Given the description of an element on the screen output the (x, y) to click on. 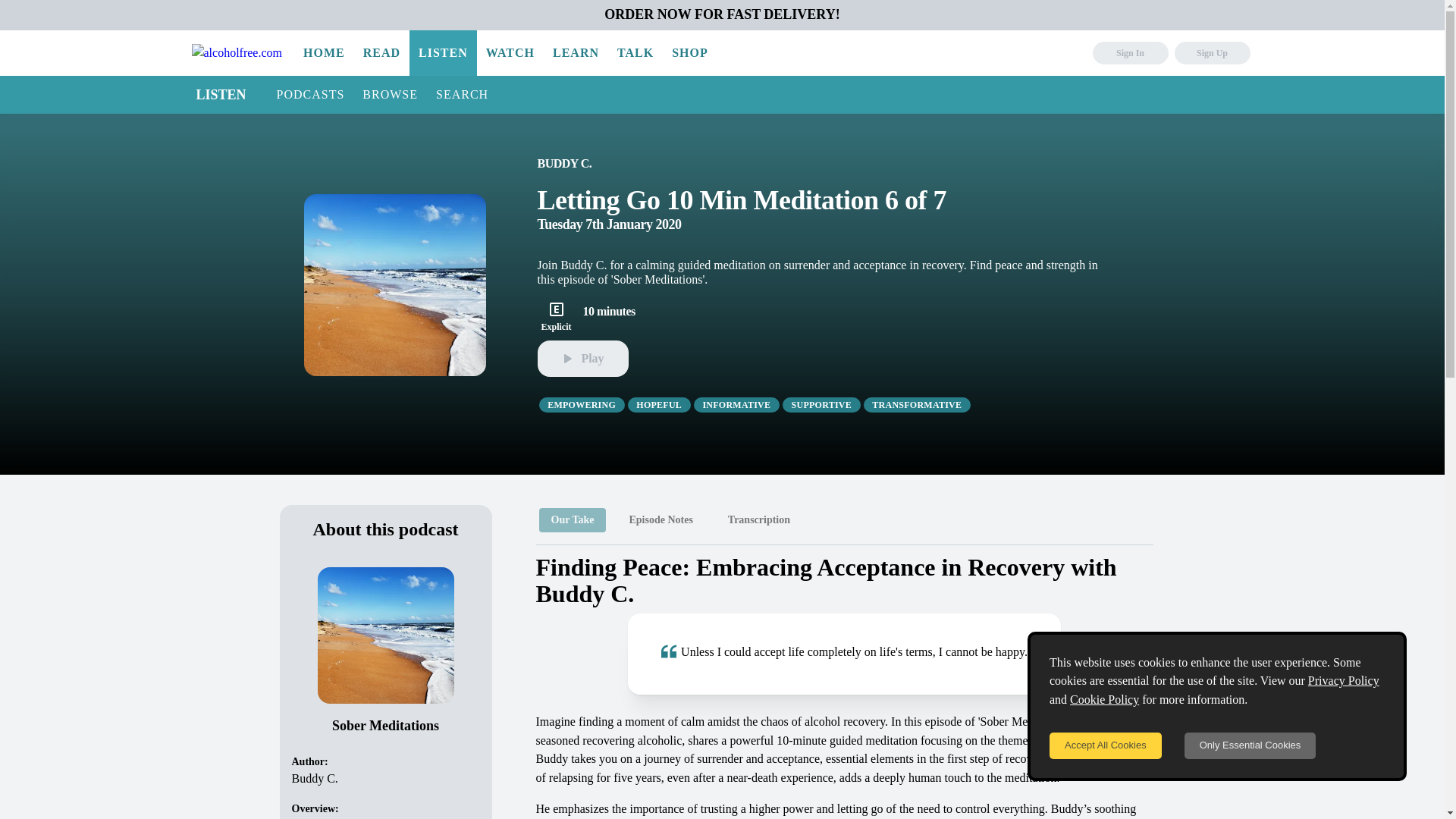
READ (381, 53)
LEARN (575, 53)
Sign Up (1211, 52)
HOME (323, 53)
Sign In (1129, 52)
Sign Up (1211, 52)
LISTEN (221, 94)
WATCH (510, 53)
SHOP (689, 53)
Sign In (1129, 52)
